Given the description of an element on the screen output the (x, y) to click on. 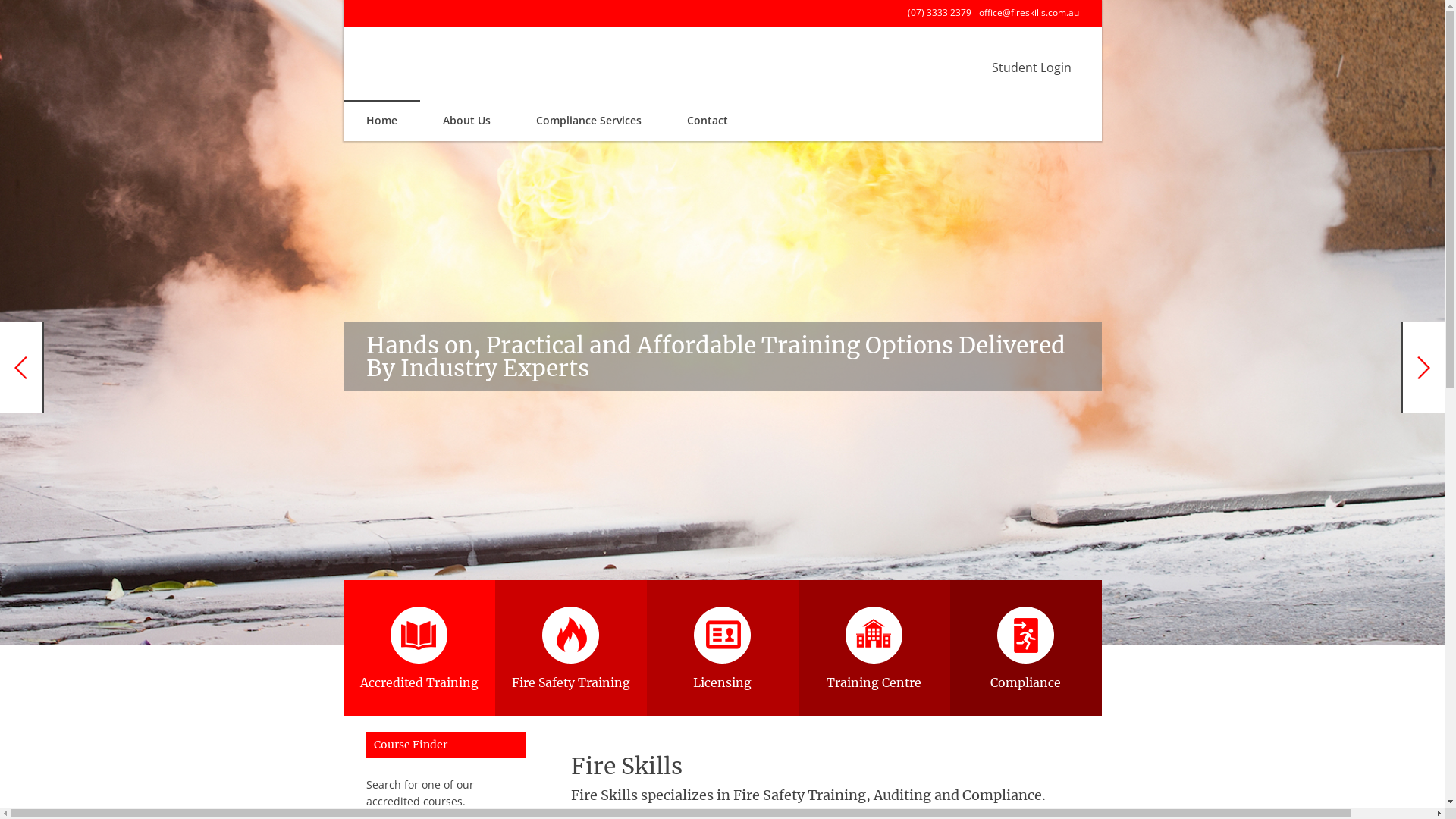
Accredited Training Element type: text (418, 647)
Next Element type: text (1422, 367)
Training Centre Element type: text (873, 647)
Student Login Element type: text (1031, 67)
Fire Safety Training Element type: text (570, 647)
Previous Element type: text (21, 367)
About Us Element type: text (466, 121)
Home Element type: text (380, 121)
Licensing Element type: text (721, 647)
Compliance Services Element type: text (587, 121)
Compliance Element type: text (1025, 647)
office@fireskills.com.au Element type: text (1028, 12)
Contact Element type: text (707, 121)
(07) 3333 2379 Element type: text (938, 12)
